Given the description of an element on the screen output the (x, y) to click on. 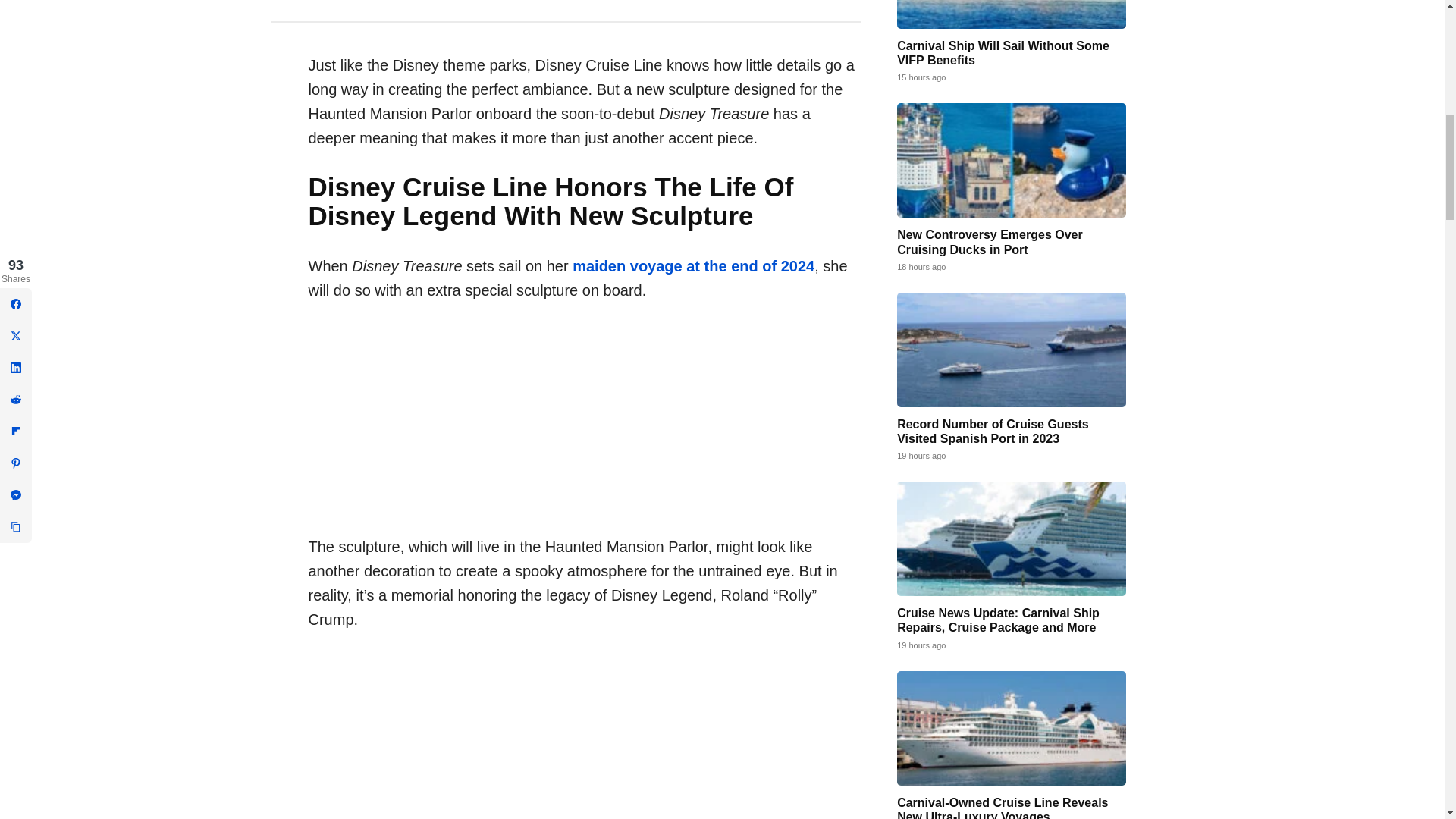
New Controversy Emerges Over Cruising Ducks in Port (1010, 160)
Carnival Ship Will Sail Without Some VIFP Benefits (1010, 14)
Carnival Ship Will Sail Without Some VIFP Benefits (1002, 52)
New Controversy Emerges Over Cruising Ducks in Port (989, 241)
Record Number of Cruise Guests Visited Spanish Port in 2023 (992, 431)
Record Number of Cruise Guests Visited Spanish Port in 2023 (1010, 349)
